Given the description of an element on the screen output the (x, y) to click on. 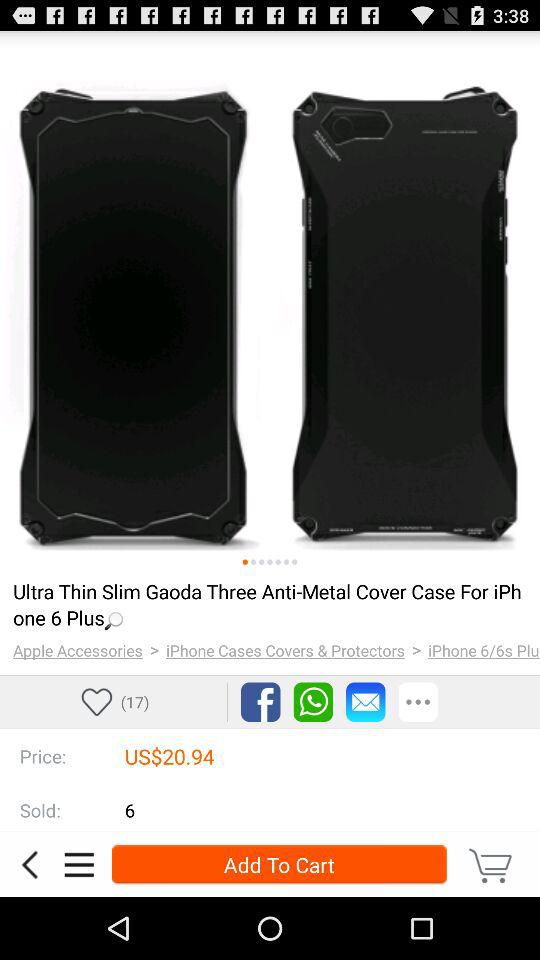
mail (365, 701)
